Given the description of an element on the screen output the (x, y) to click on. 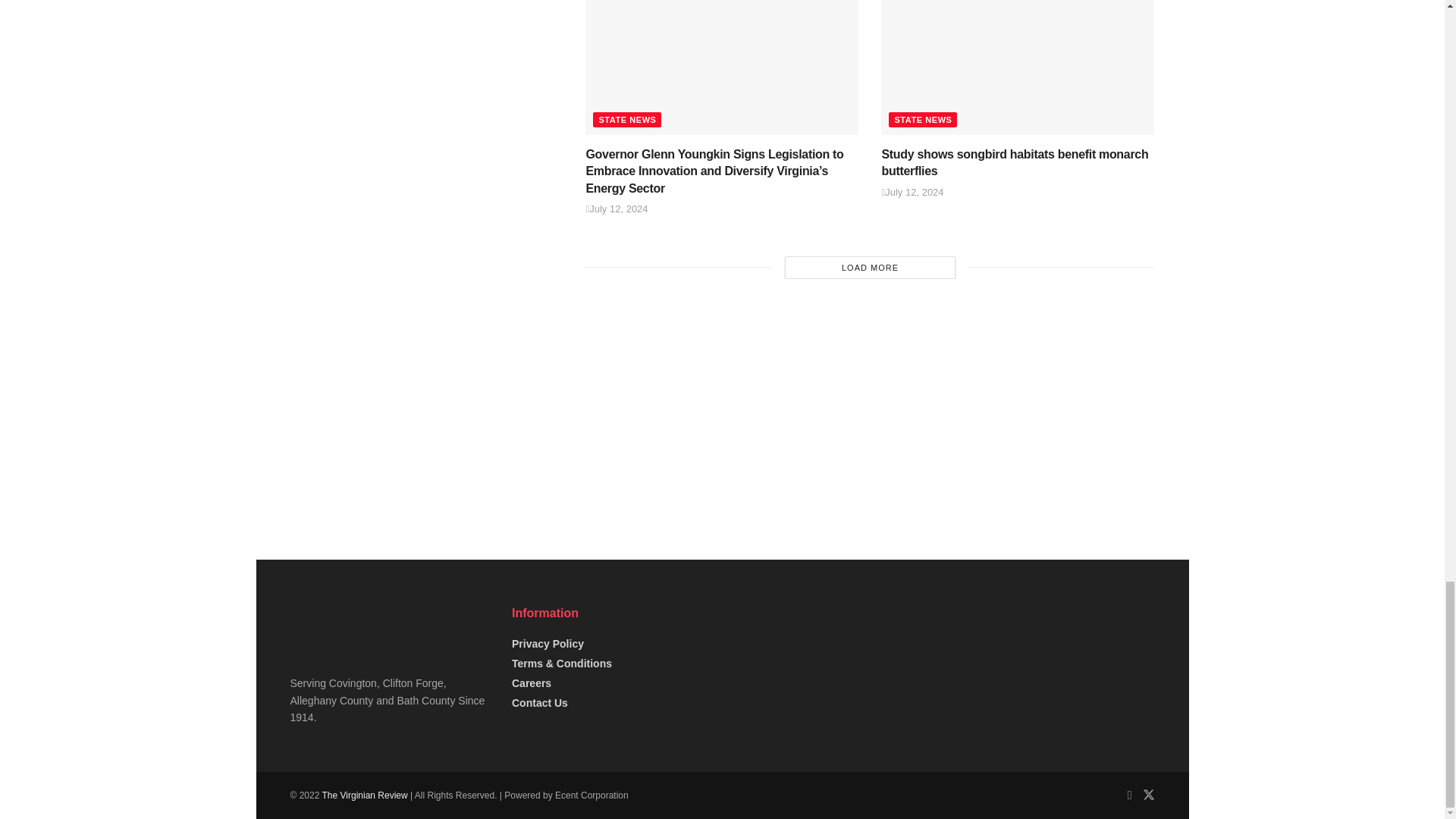
The Virginian Review (364, 795)
